Given the description of an element on the screen output the (x, y) to click on. 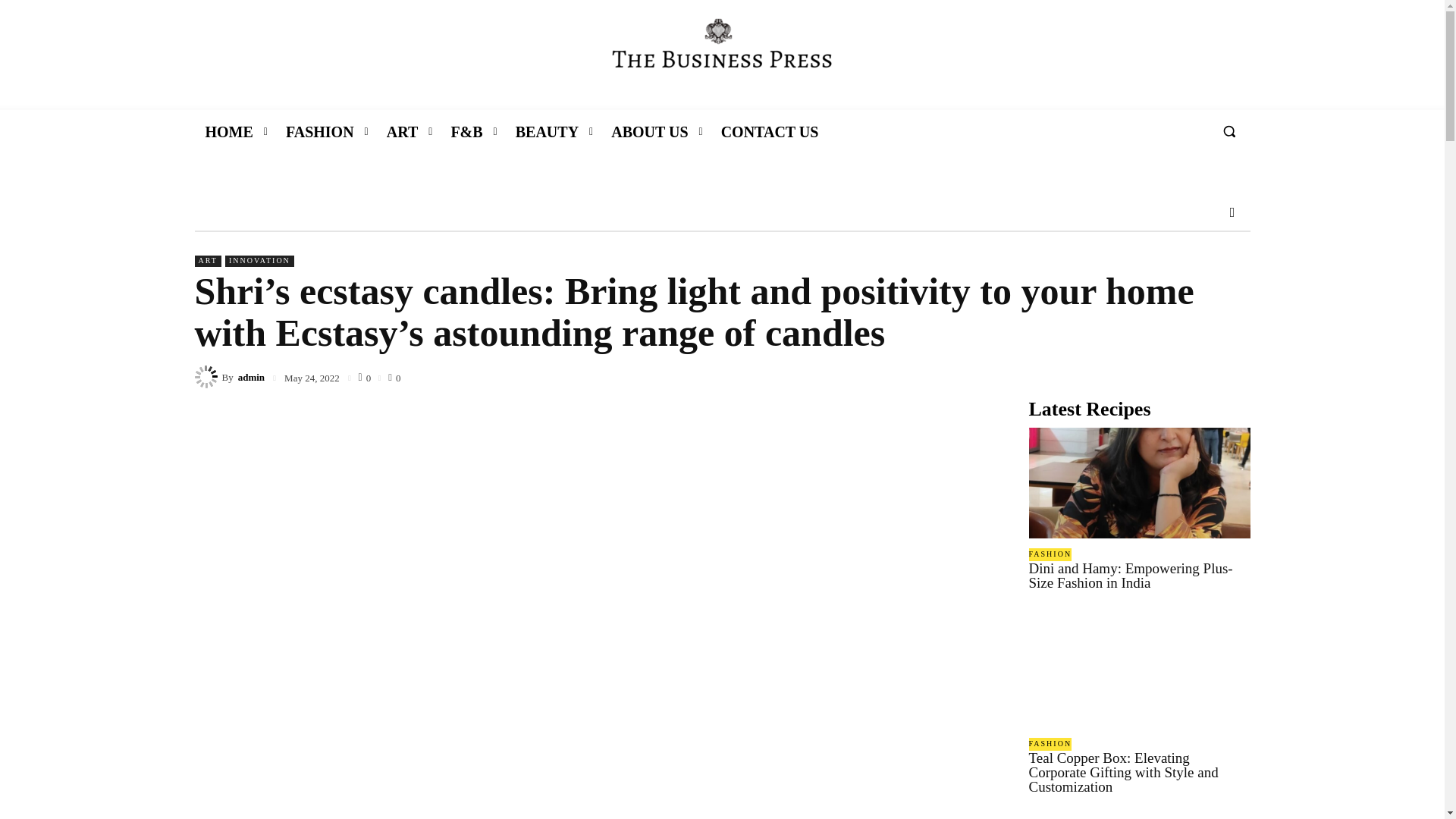
FASHION (320, 131)
CONTACT US (769, 131)
admin (207, 376)
HOME (228, 131)
Instagram (1232, 212)
admin (251, 377)
BEAUTY (547, 131)
ABOUT US (648, 131)
INNOVATION (259, 260)
ART (207, 260)
